Given the description of an element on the screen output the (x, y) to click on. 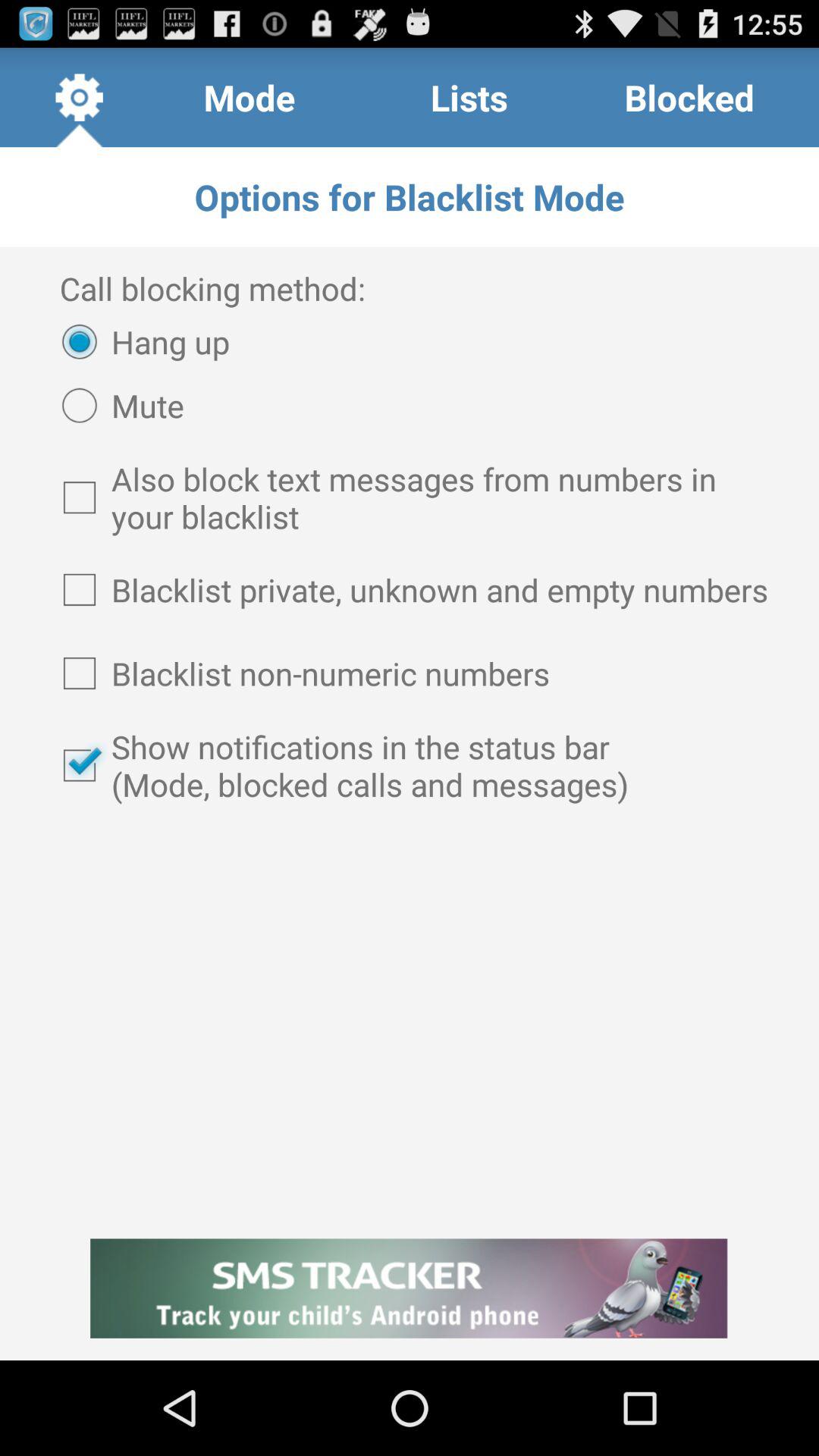
turn off mute radio button (115, 405)
